Given the description of an element on the screen output the (x, y) to click on. 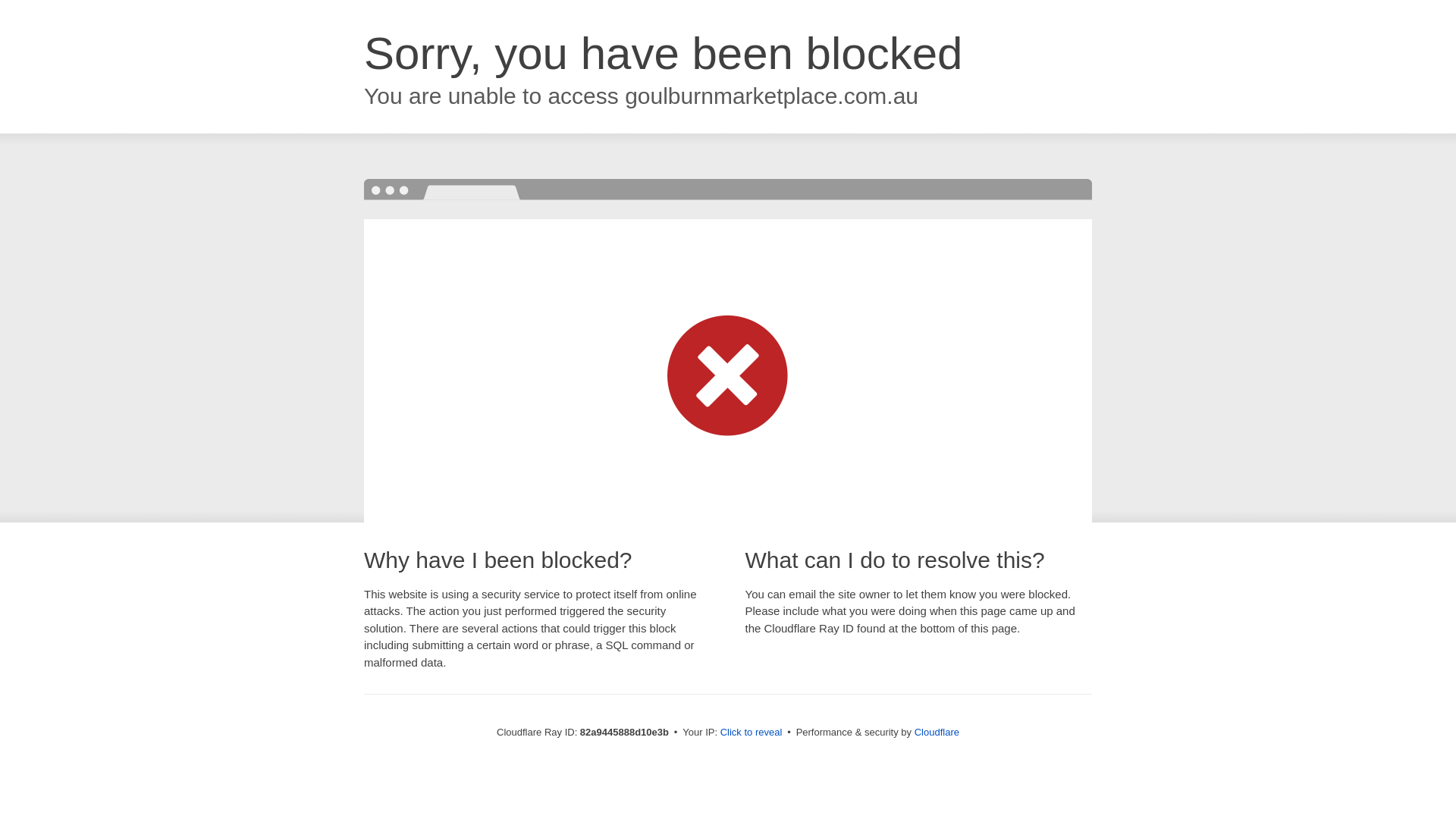
Cloudflare Element type: text (936, 731)
Click to reveal Element type: text (751, 732)
